Given the description of an element on the screen output the (x, y) to click on. 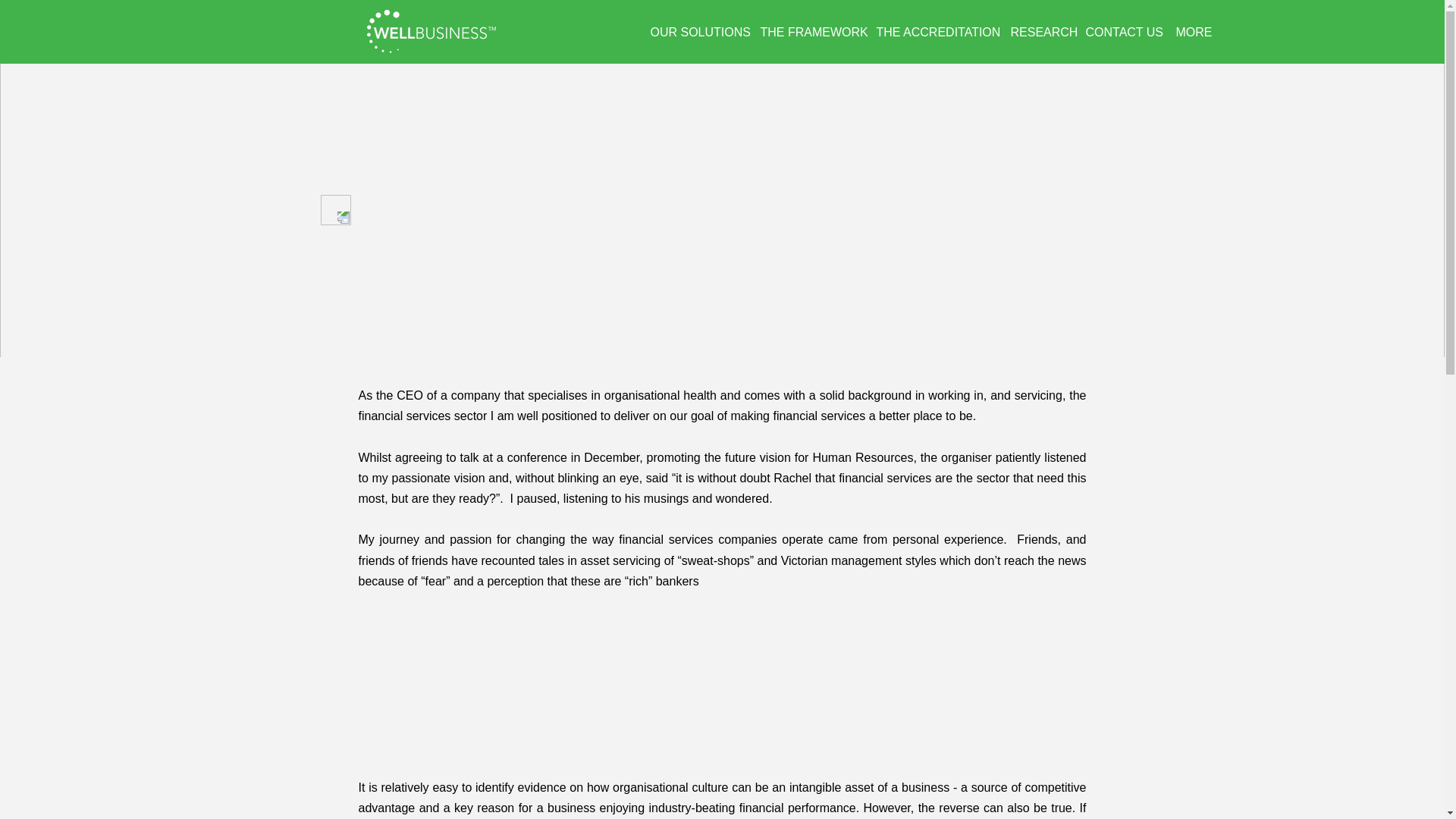
THE ACCREDITATION (936, 31)
THE FRAMEWORK (809, 31)
RESEARCH (1040, 31)
CONTACT US (1123, 31)
OUR SOLUTIONS (697, 31)
